Given the description of an element on the screen output the (x, y) to click on. 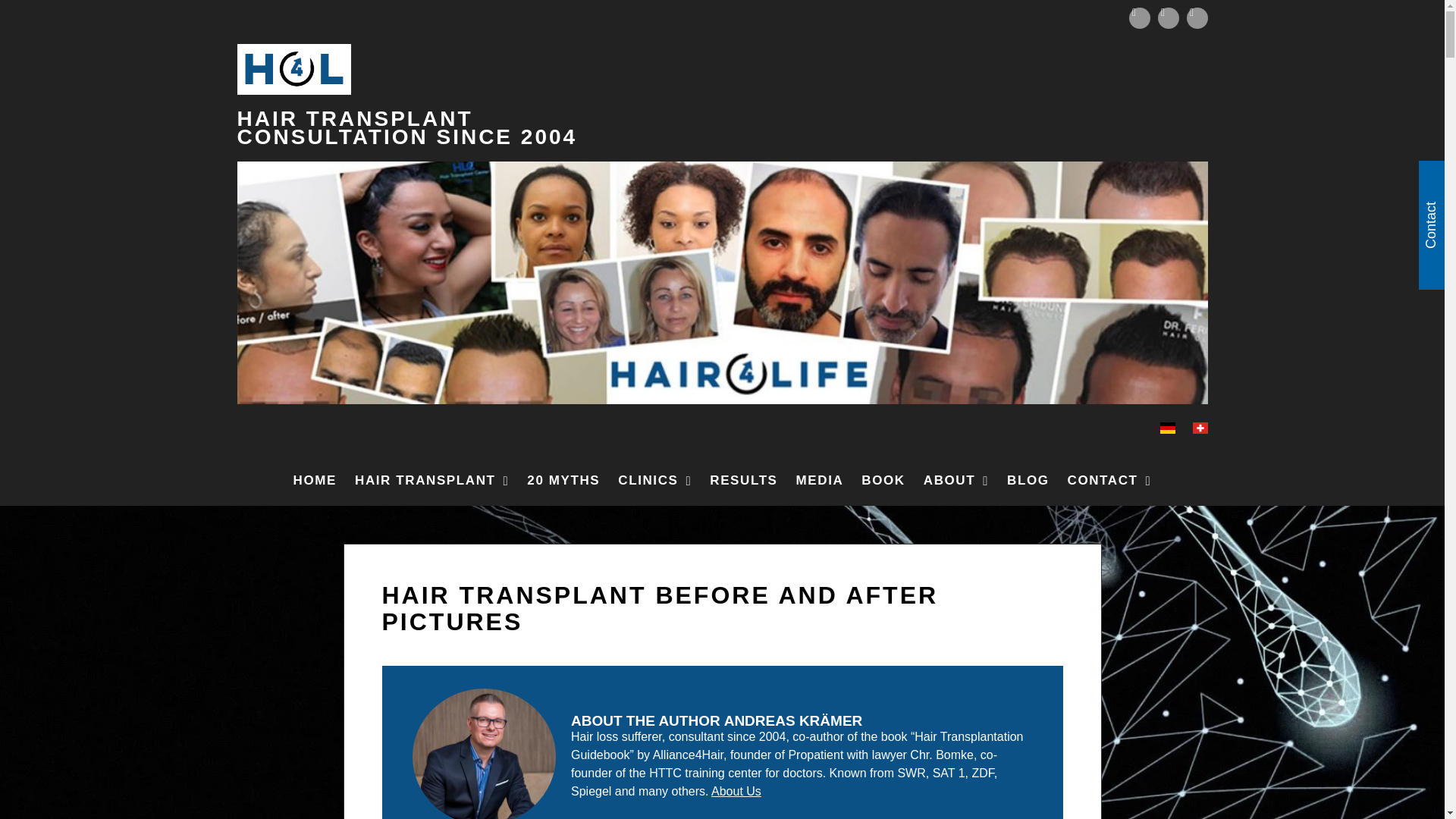
HAIR TRANSPLANT (432, 480)
HOME (314, 480)
